Given the description of an element on the screen output the (x, y) to click on. 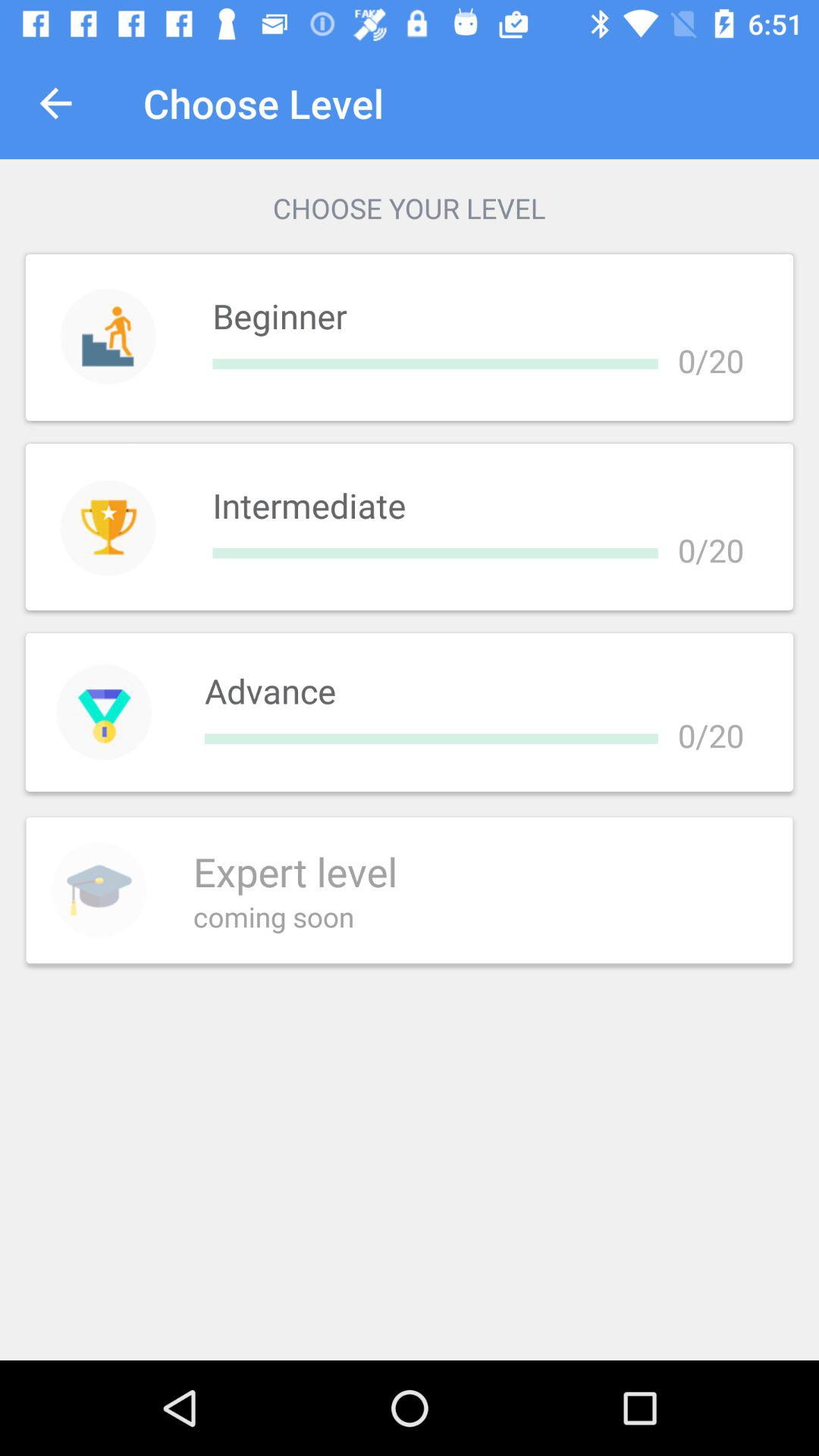
select icon next to choose level item (55, 103)
